Given the description of an element on the screen output the (x, y) to click on. 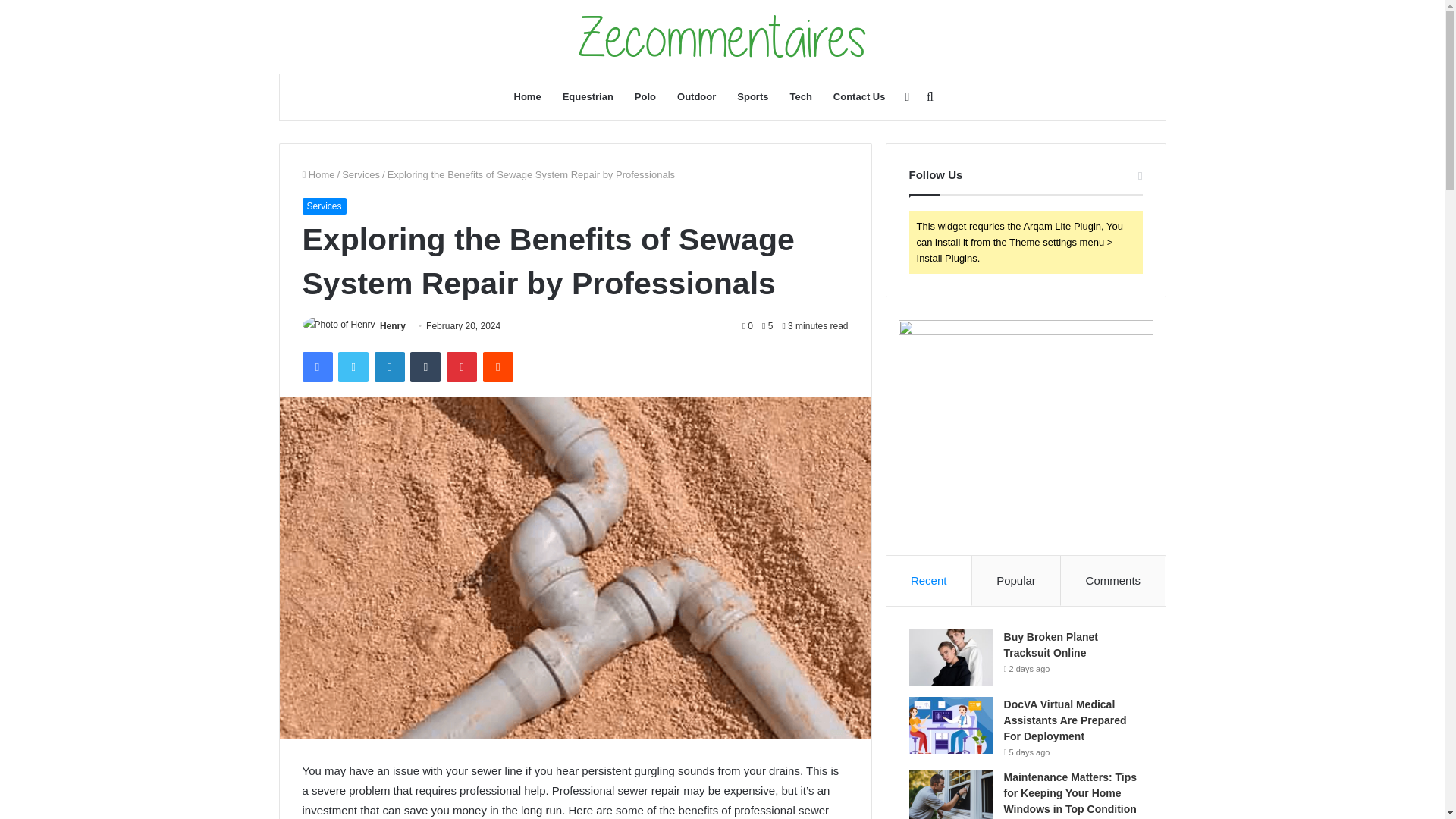
Pinterest (461, 367)
Home (317, 174)
Henry (393, 326)
Tumblr (425, 367)
Services (323, 206)
Services (361, 174)
Reddit (498, 367)
LinkedIn (389, 367)
Pinterest (461, 367)
Twitter (352, 367)
Facebook (316, 367)
Polo (645, 96)
Home (527, 96)
Equestrian (587, 96)
Zecommentaires (722, 36)
